Given the description of an element on the screen output the (x, y) to click on. 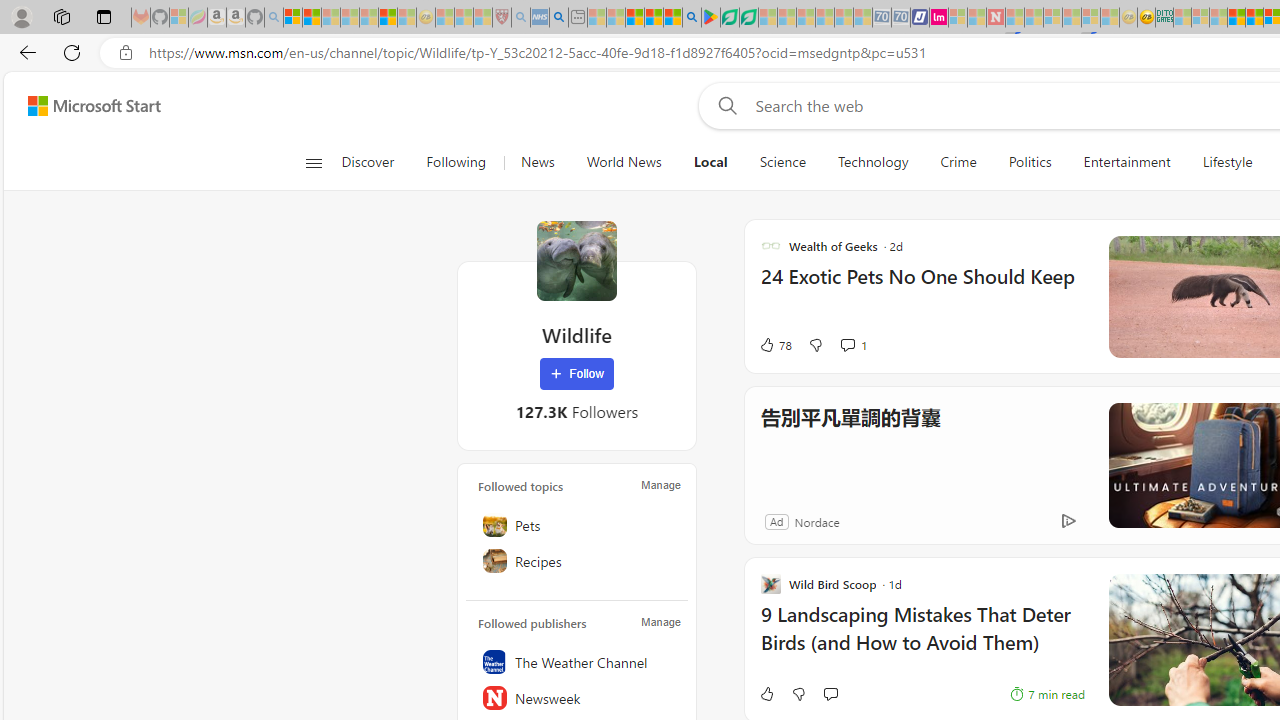
Pets (577, 525)
